Given the description of an element on the screen output the (x, y) to click on. 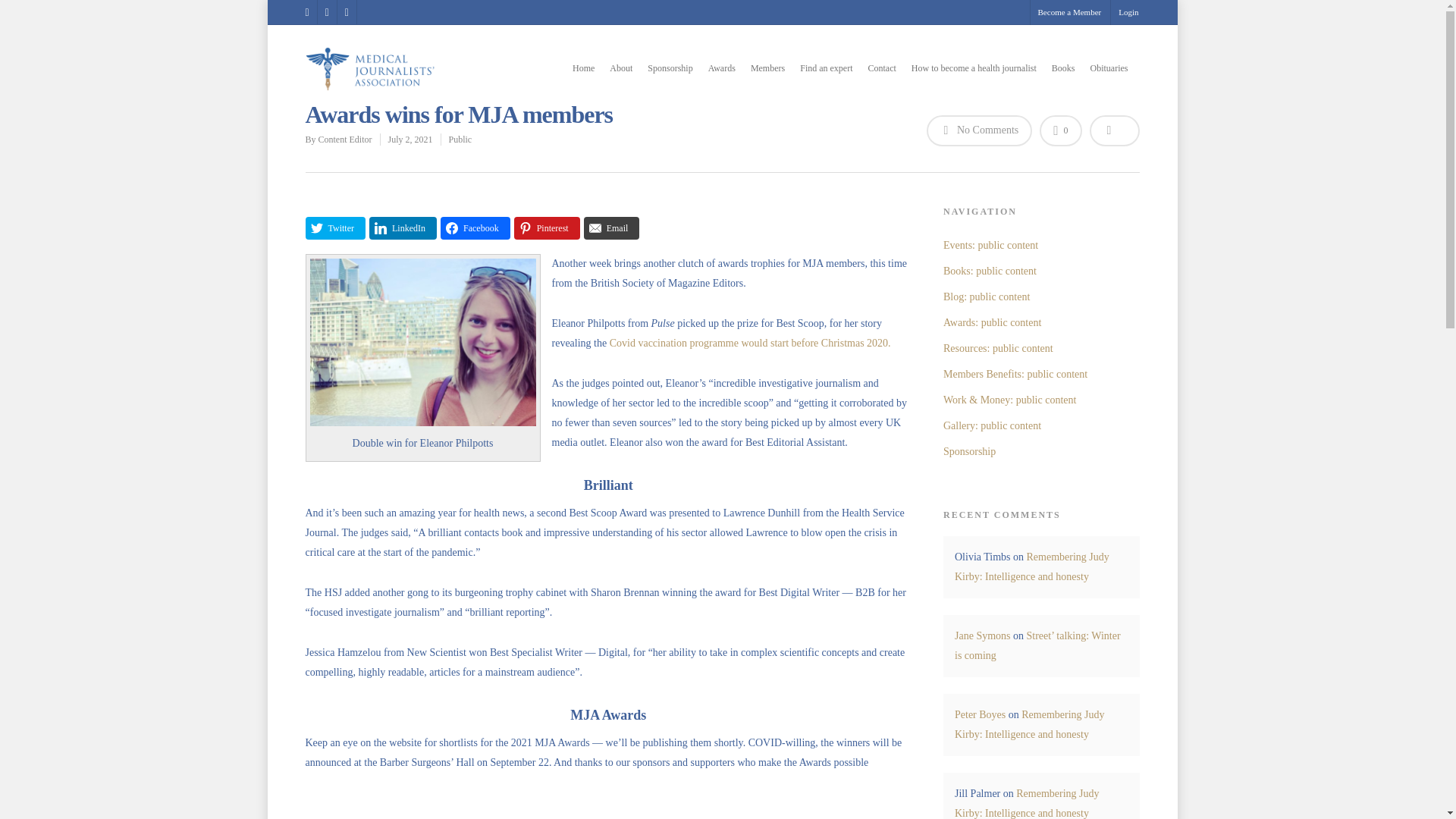
Share on LinkedIn (402, 228)
Share on Pinterest (546, 228)
Find an expert (825, 72)
Posts by Content Editor (345, 139)
Share on Twitter (334, 228)
Become a Member (1069, 12)
Share on Email (611, 228)
Login (1123, 12)
Login (1123, 12)
Share on Facebook (476, 228)
Love this (1060, 130)
Become a Member (1069, 12)
